Given the description of an element on the screen output the (x, y) to click on. 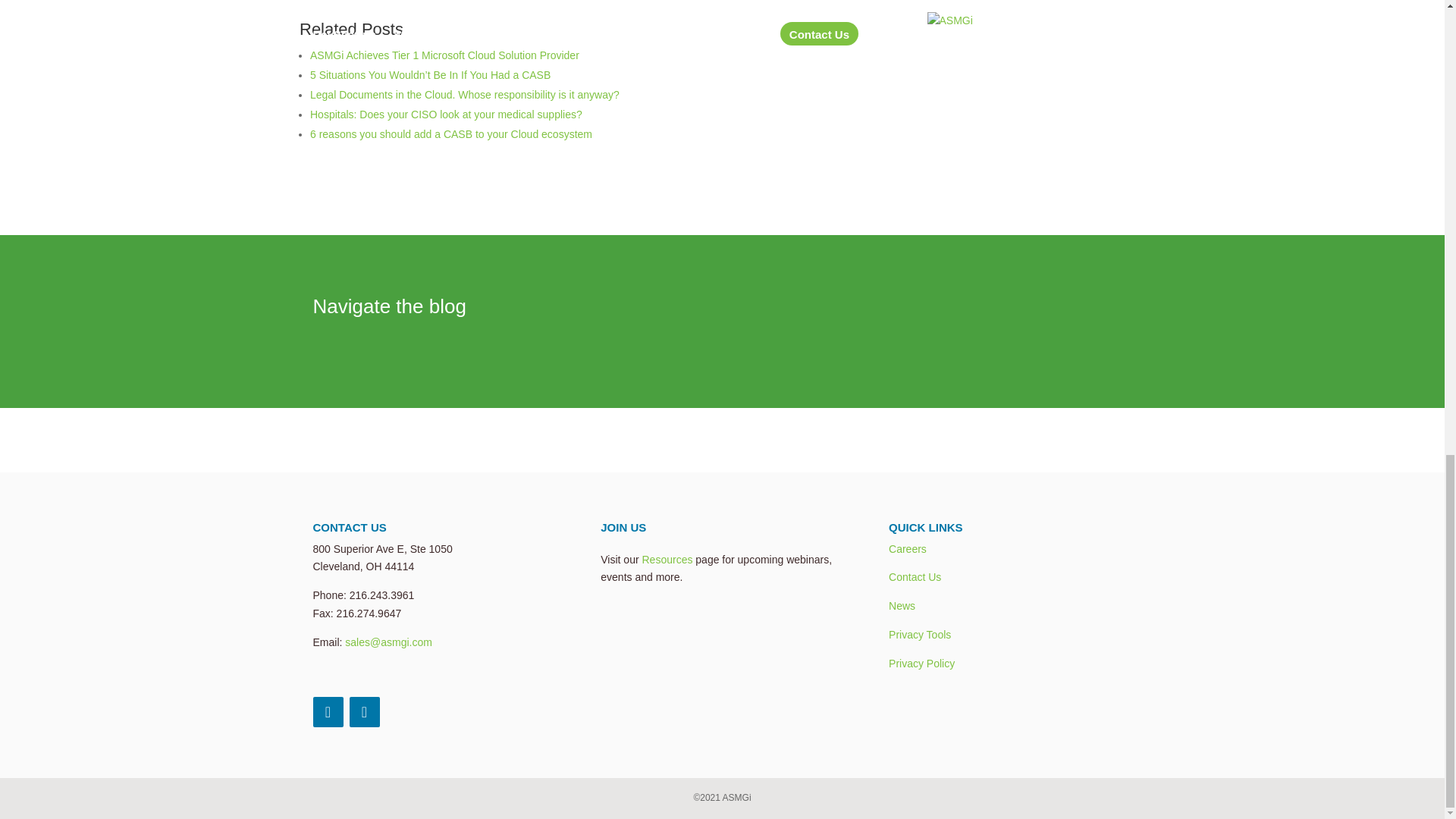
LinkedIn (363, 711)
Resources (667, 559)
Contact Us (914, 576)
Hospitals: Does your CISO look at your medical supplies? (446, 114)
Twitter (327, 711)
6 reasons you should add a CASB to your Cloud ecosystem (451, 133)
News (901, 605)
ASMGi Achieves Tier 1 Microsoft Cloud Solution Provider (444, 55)
Careers (907, 548)
